Given the description of an element on the screen output the (x, y) to click on. 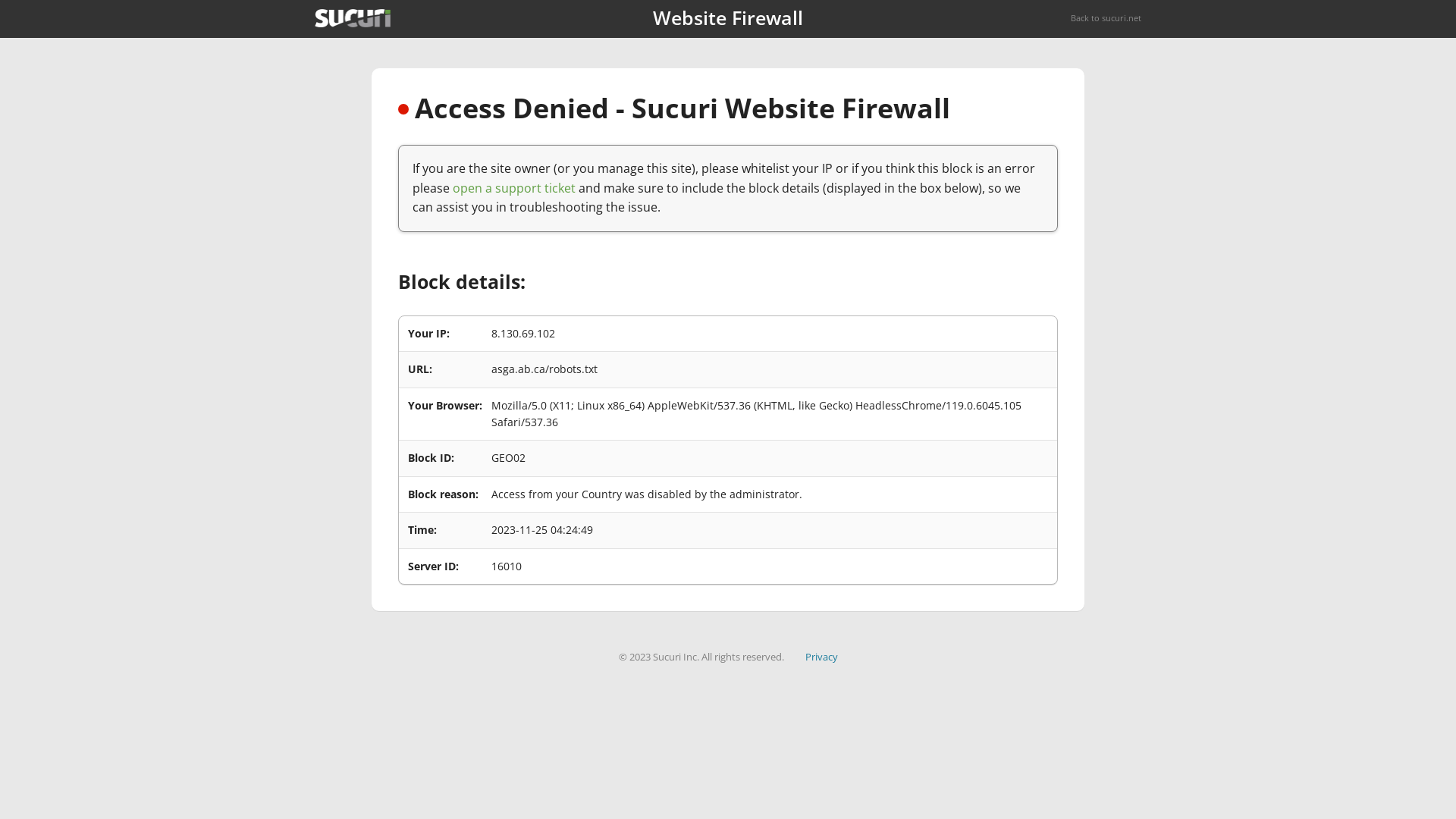
Privacy Element type: text (821, 656)
Back to sucuri.net Element type: text (1105, 18)
open a support ticket Element type: text (513, 187)
